Given the description of an element on the screen output the (x, y) to click on. 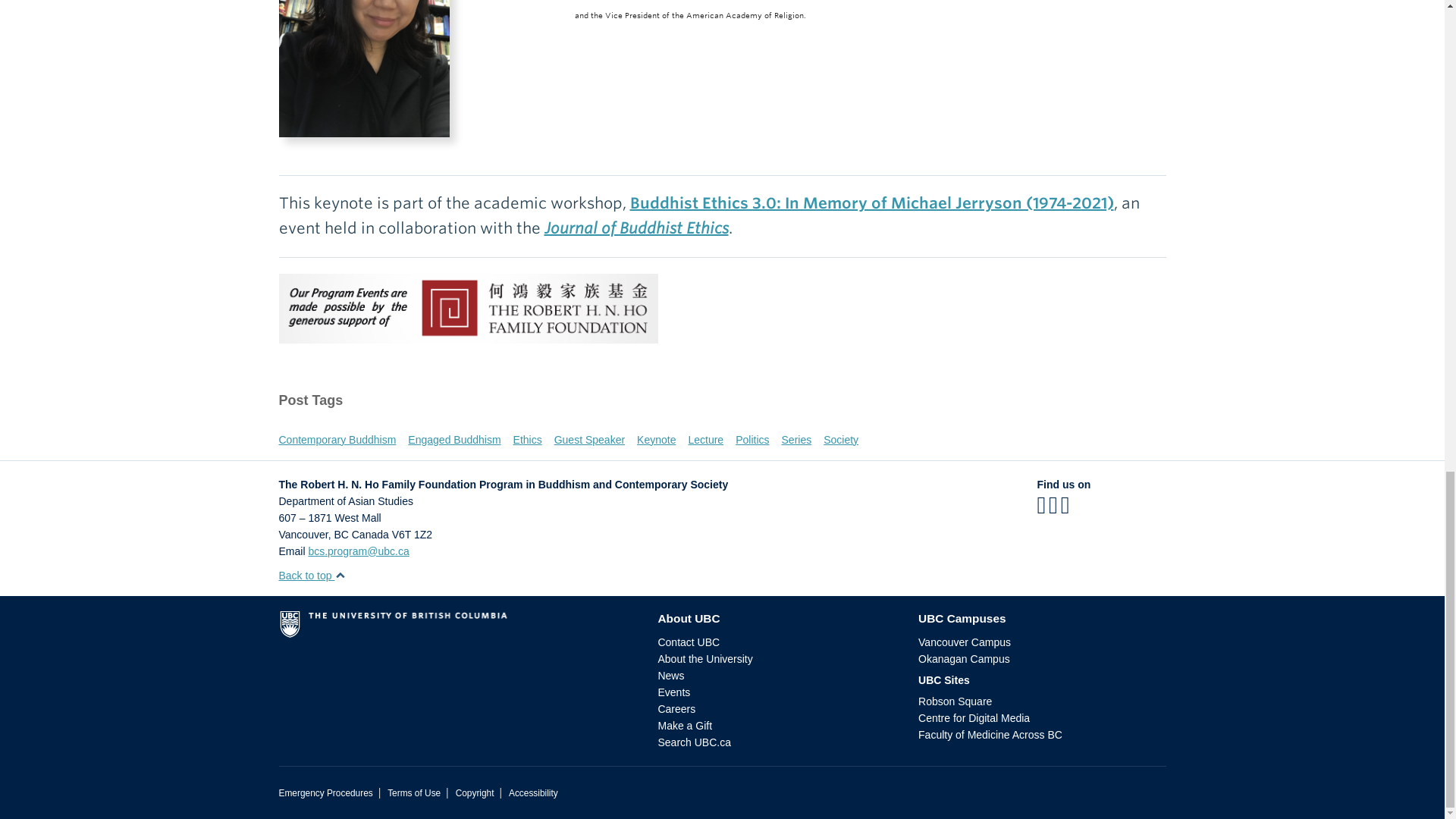
Accessibility (532, 792)
UBC Copyright (475, 792)
Emergency Procedures (325, 792)
Terms of Use (414, 792)
Back to top (312, 575)
